Given the description of an element on the screen output the (x, y) to click on. 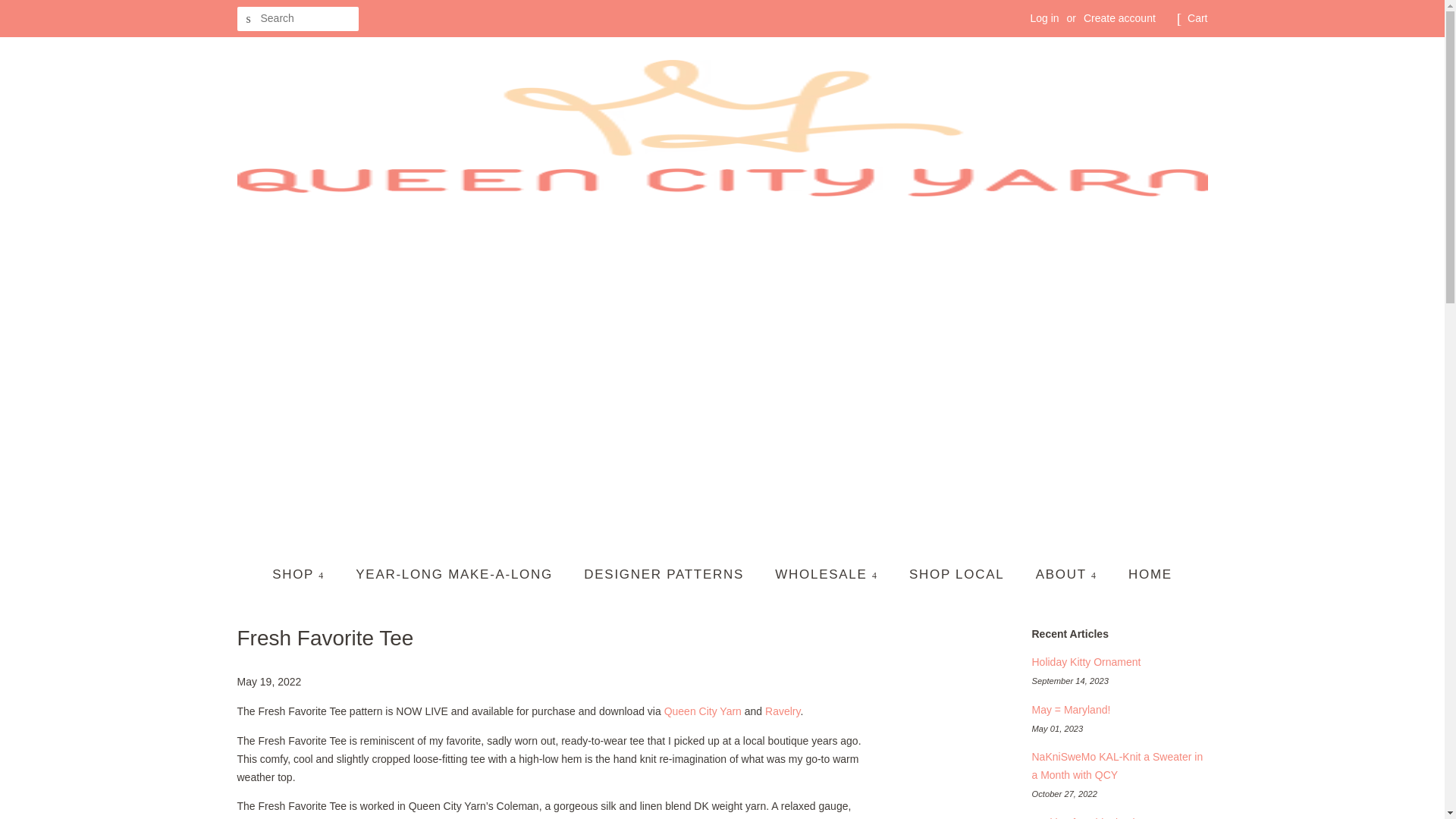
SEARCH (247, 18)
Create account (1119, 18)
SHOP (305, 574)
Fresh Favorite Tee Queen City Yarn Pattern Page (702, 711)
Fresh Favorite Tee Ravelry Pattern Page (782, 711)
Log in (1043, 18)
Cart (1197, 18)
